Given the description of an element on the screen output the (x, y) to click on. 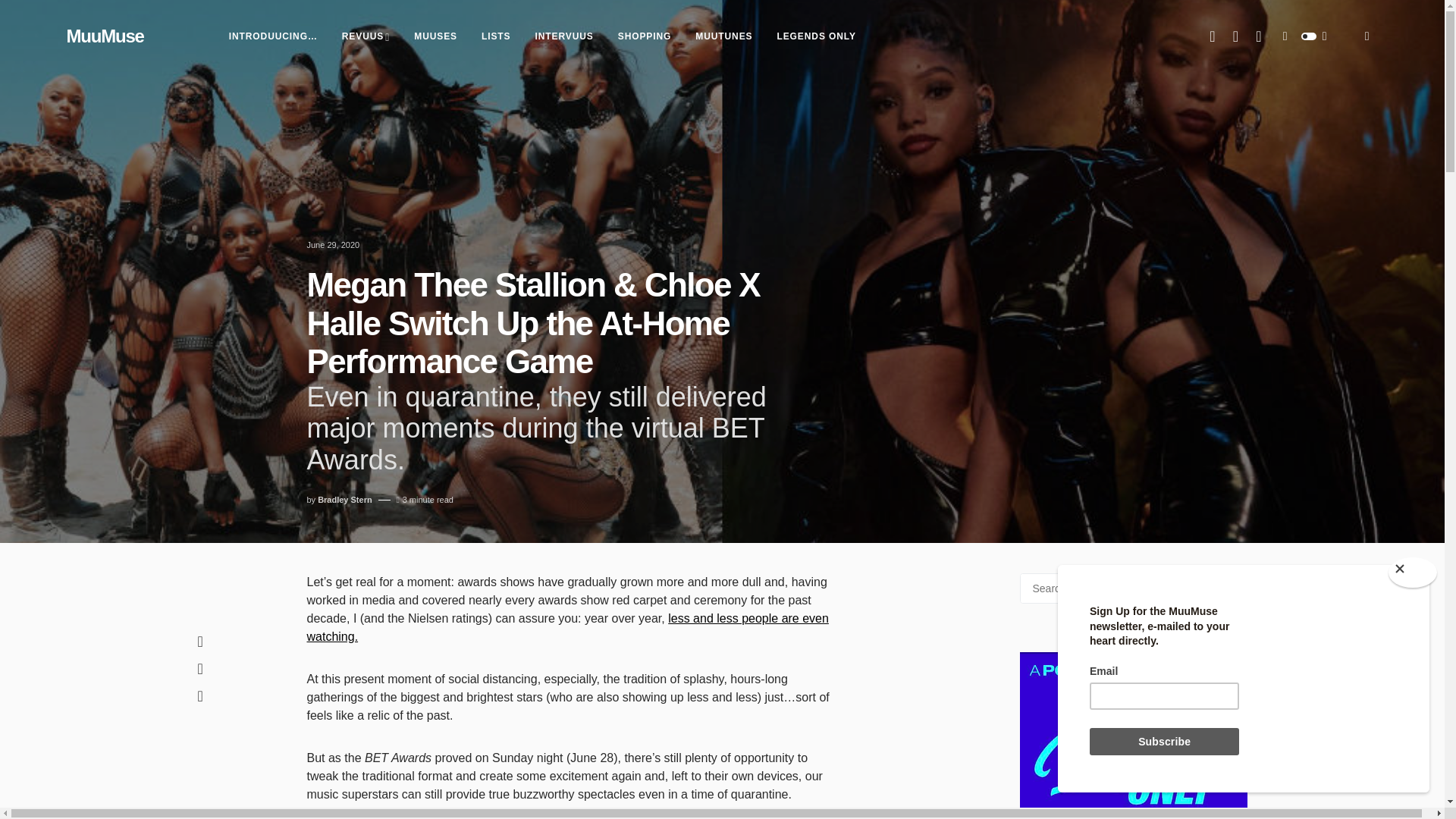
View all posts by Bradley Stern (344, 499)
LEGENDS ONLY (816, 36)
MuuMuse (105, 35)
